Given the description of an element on the screen output the (x, y) to click on. 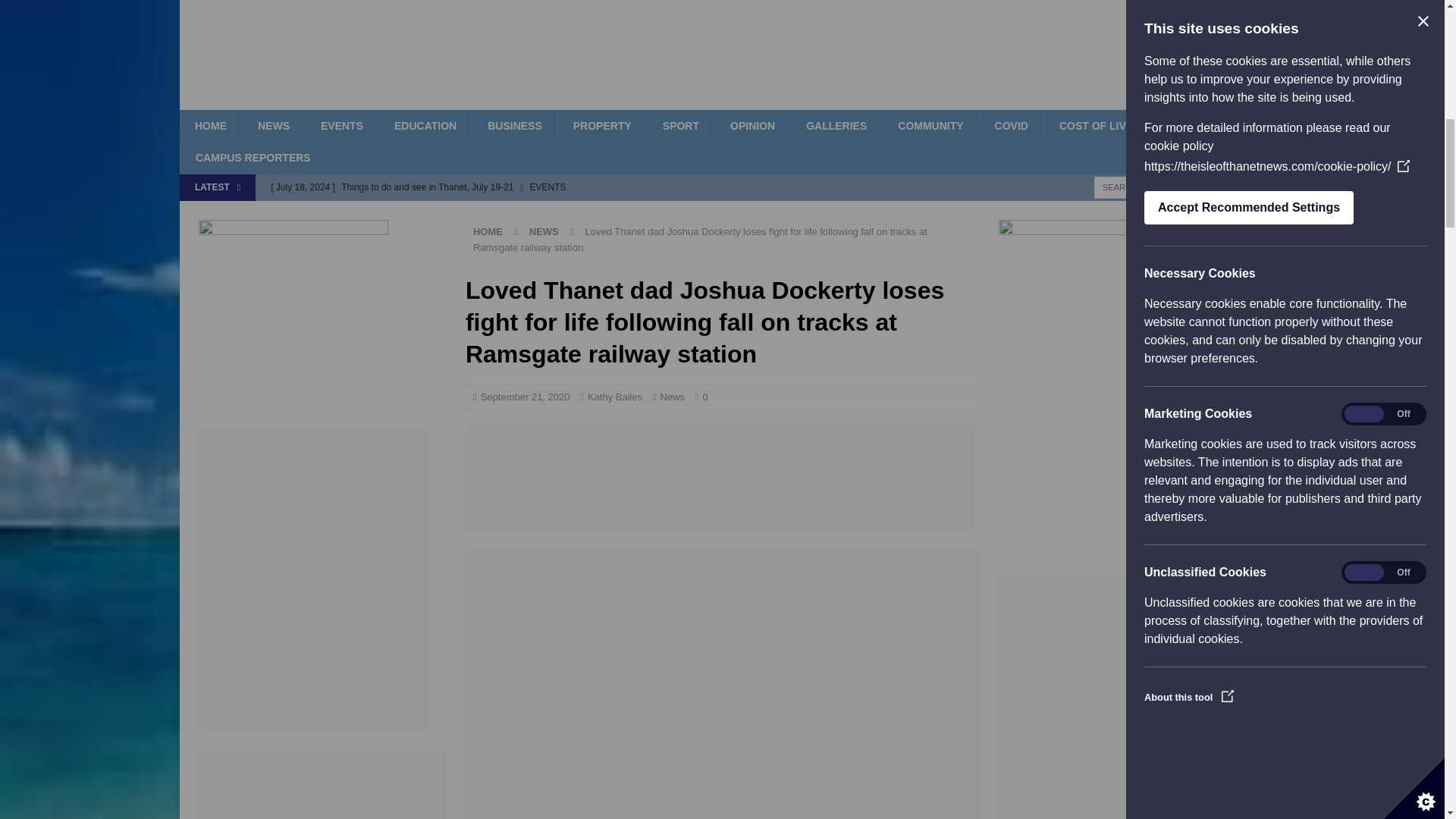
Things to do and see in Thanet, July 19-21 (574, 186)
